Given the description of an element on the screen output the (x, y) to click on. 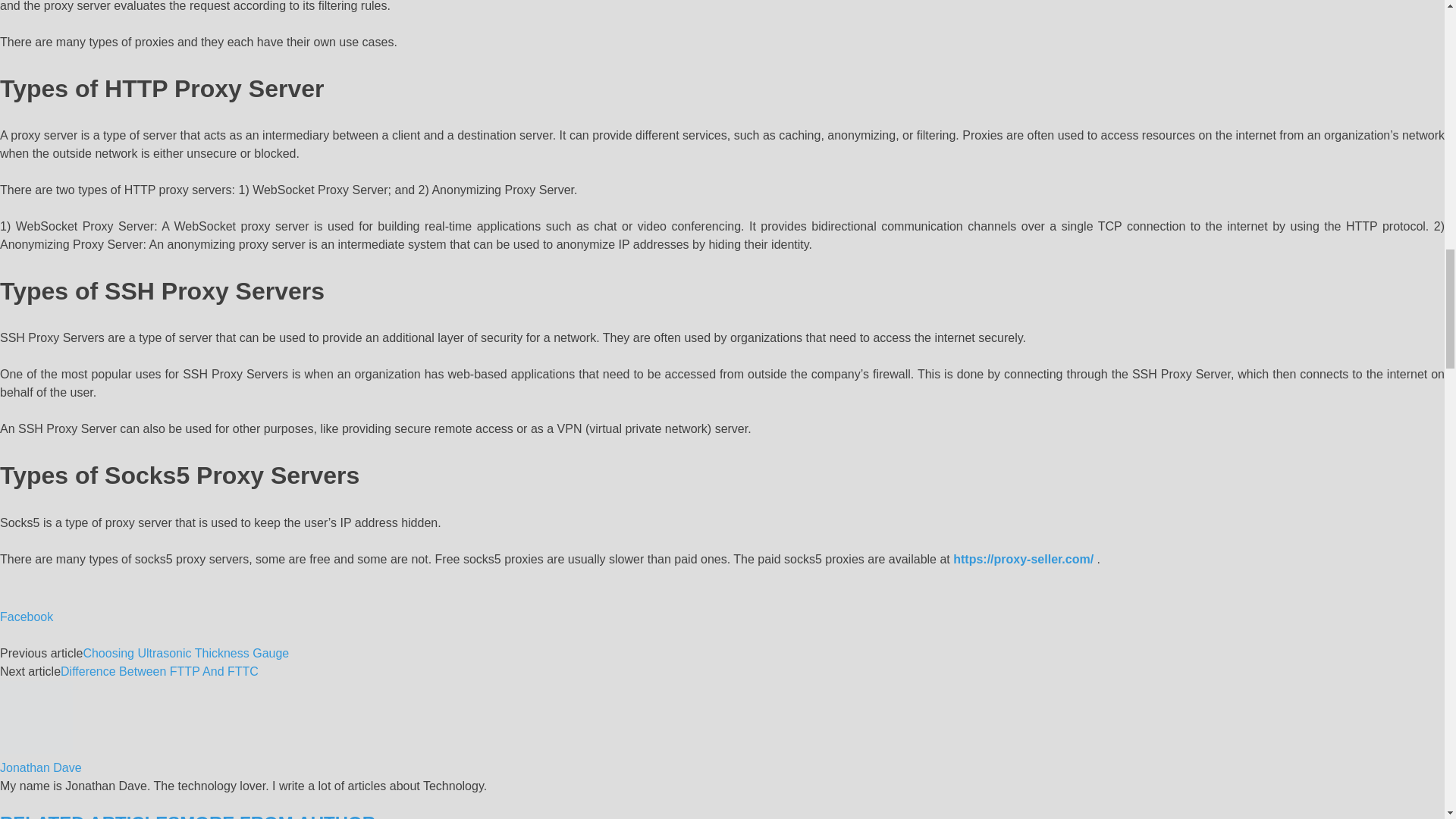
Difference Between FTTP And FTTC (160, 671)
bottomFacebookLike (113, 594)
Jonathan Dave (40, 767)
Choosing Ultrasonic Thickness Gauge (185, 653)
